Given the description of an element on the screen output the (x, y) to click on. 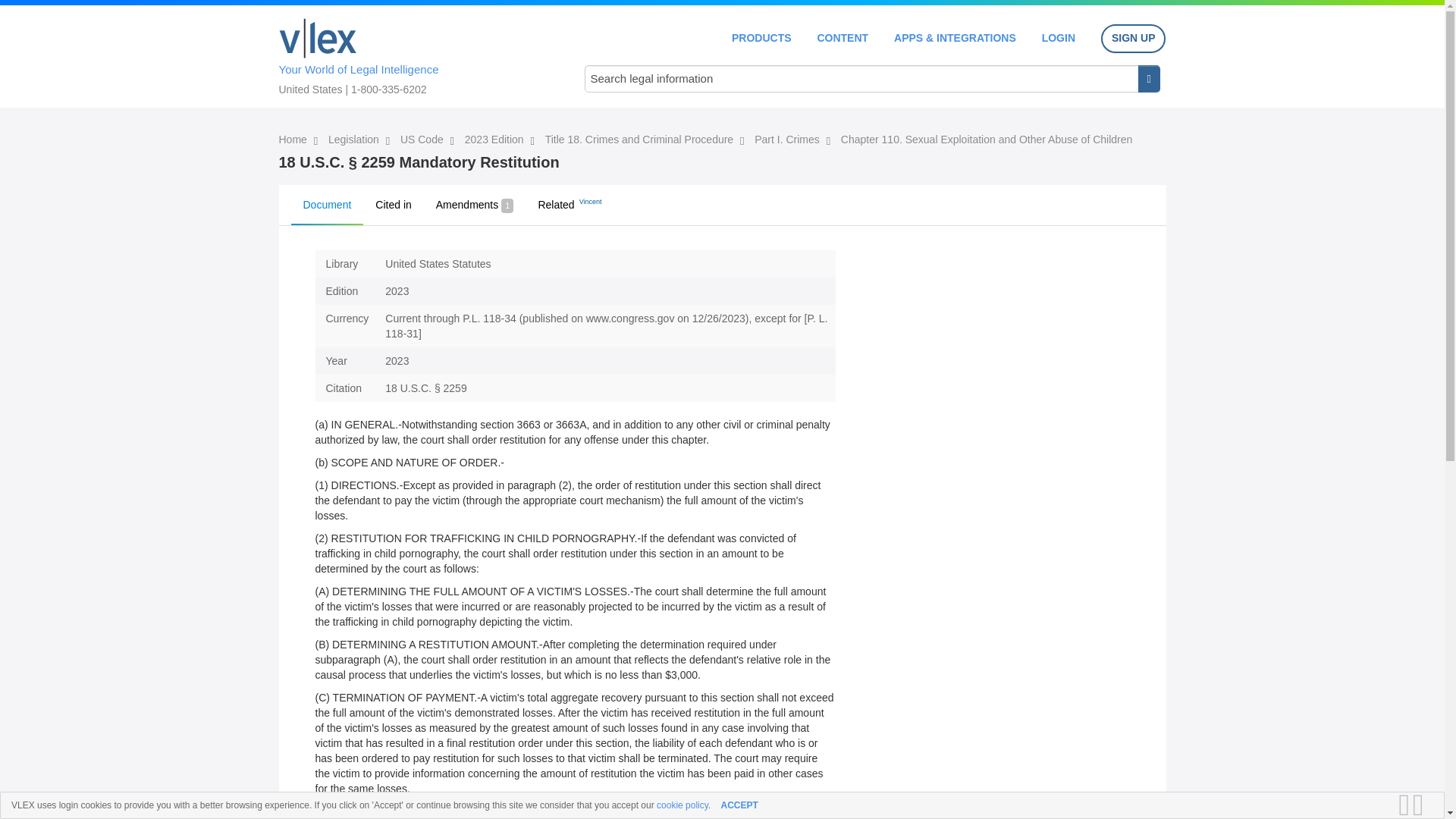
Your World of Legal Intelligence (416, 53)
ACCEPT (739, 805)
CLOSE (1422, 805)
cookie policy (681, 805)
PRODUCTS (762, 37)
CONTENT (841, 37)
Home (317, 38)
Legislation (355, 139)
SIGN UP (1133, 38)
Home (294, 139)
2023 Edition (495, 139)
Part I. Crimes (788, 139)
US Code (423, 139)
LOGIN (1058, 37)
Title 18. Crimes and Criminal Procedure (640, 139)
